Given the description of an element on the screen output the (x, y) to click on. 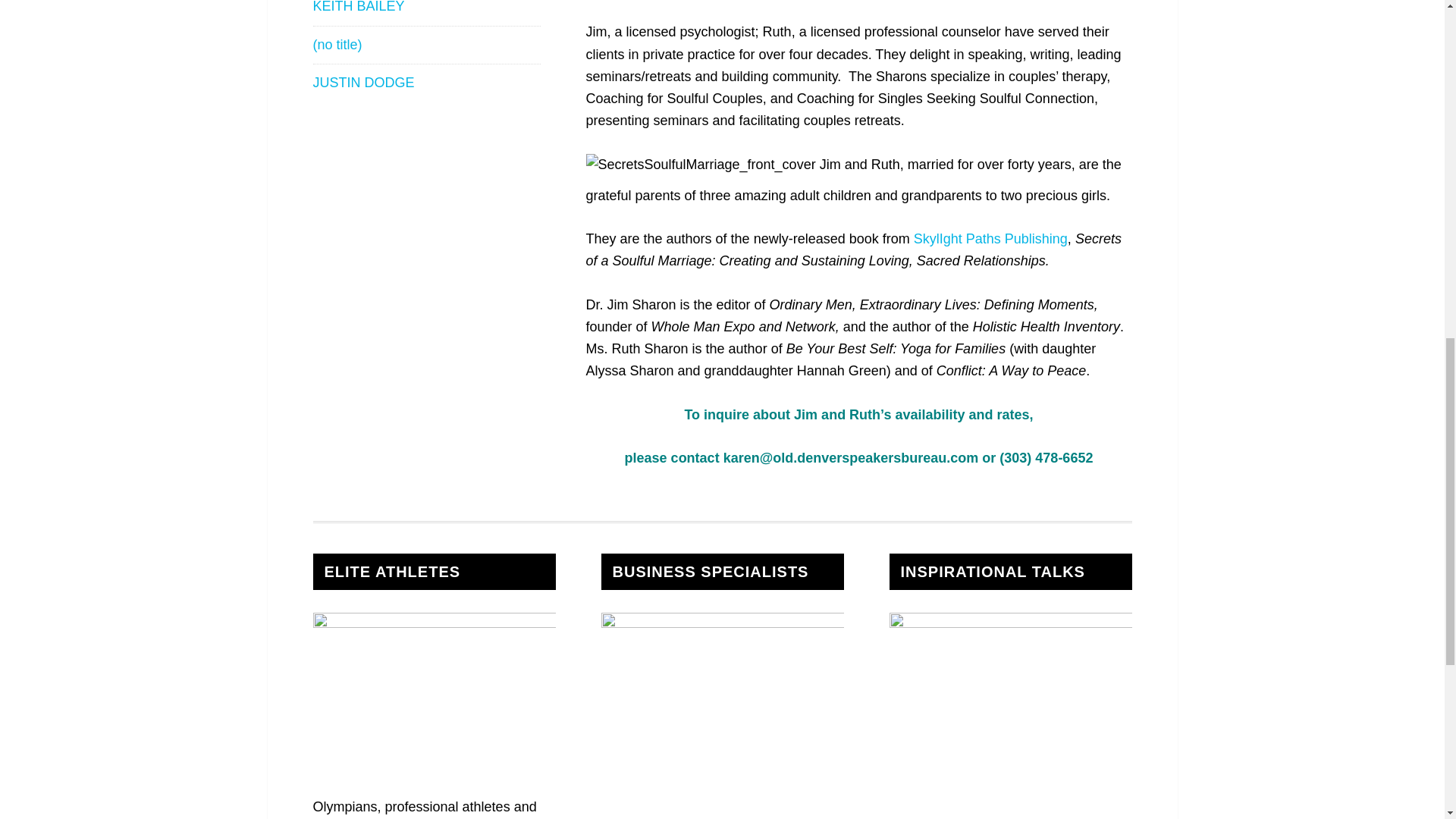
JUSTIN DODGE (363, 82)
KEITH BAILEY (358, 6)
SkylIght Paths Publishing (990, 238)
